Given the description of an element on the screen output the (x, y) to click on. 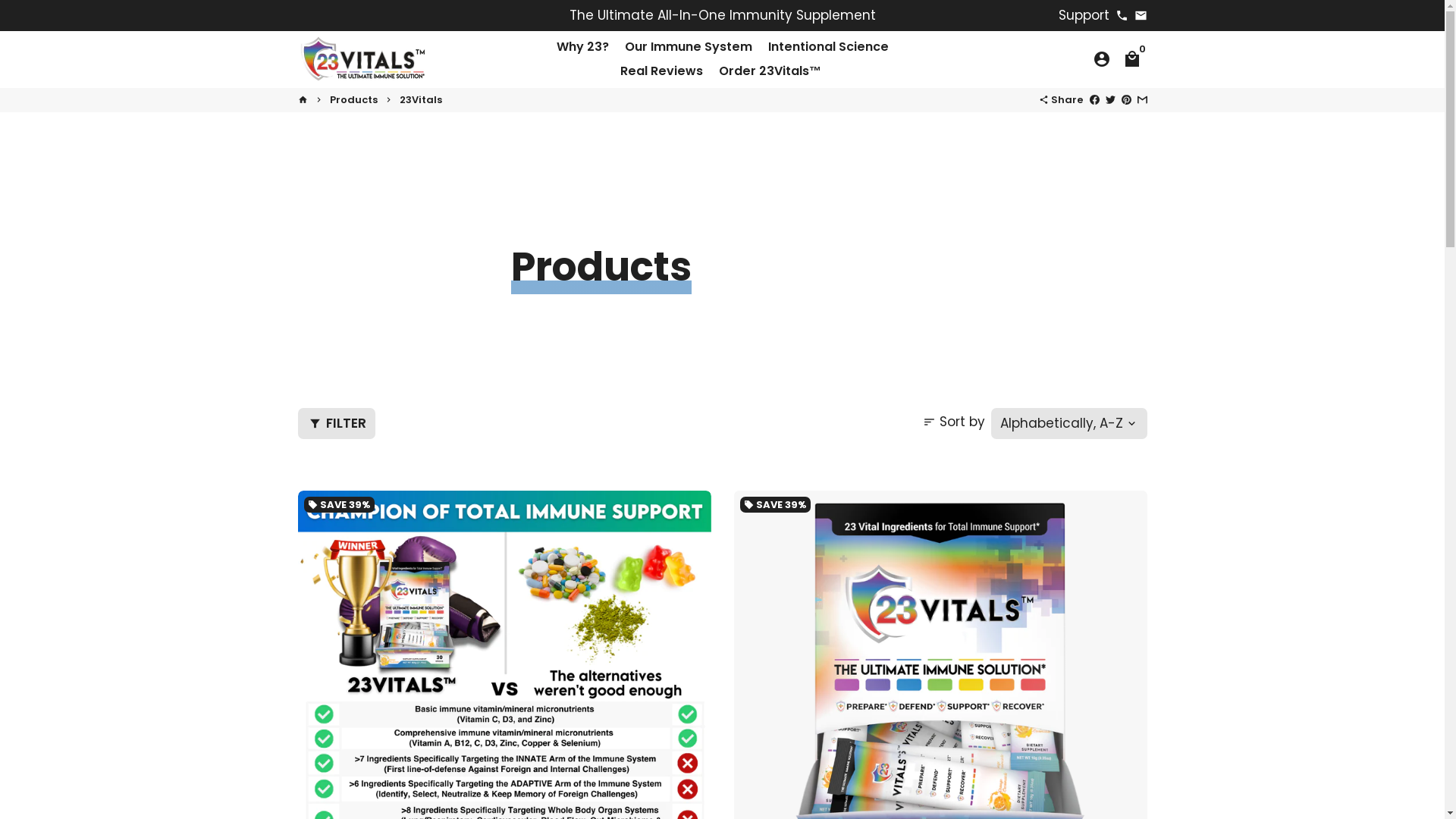
account_circle Element type: text (1100, 58)
home Element type: text (302, 99)
Why 23? Element type: text (582, 46)
Our Immune System Element type: text (688, 46)
Tweet on Twitter Element type: hover (1110, 99)
Products Element type: text (352, 99)
Intentional Science Element type: text (827, 46)
local_mall
0 Element type: text (1131, 58)
Pin on Pinterest Element type: hover (1125, 99)
email Element type: text (1140, 15)
Skip to content Element type: text (0, 0)
23Vitals Element type: text (419, 99)
phone Element type: text (1120, 15)
filter_altFILTER Element type: text (335, 423)
Share on Facebook Element type: hover (1093, 99)
Real Reviews Element type: text (661, 71)
